Given the description of an element on the screen output the (x, y) to click on. 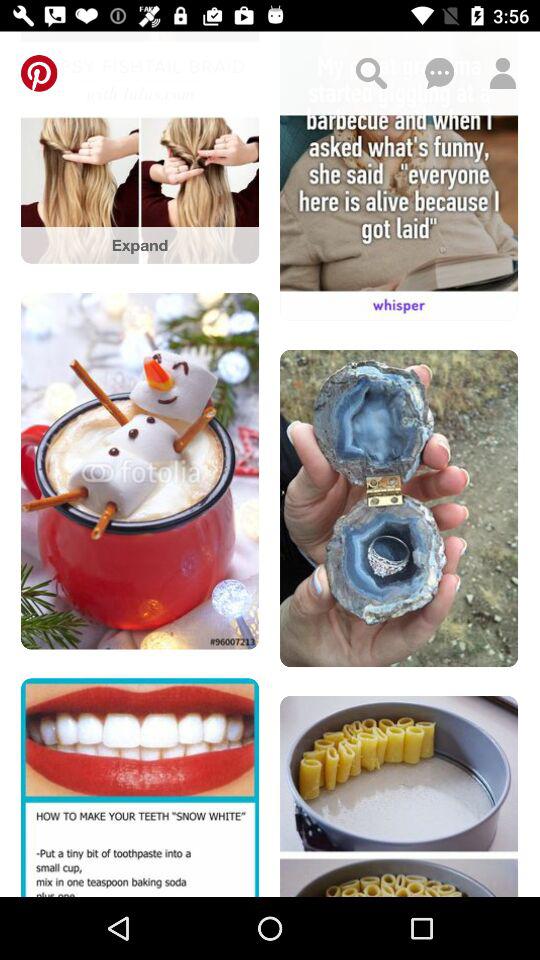
search (371, 73)
